Given the description of an element on the screen output the (x, y) to click on. 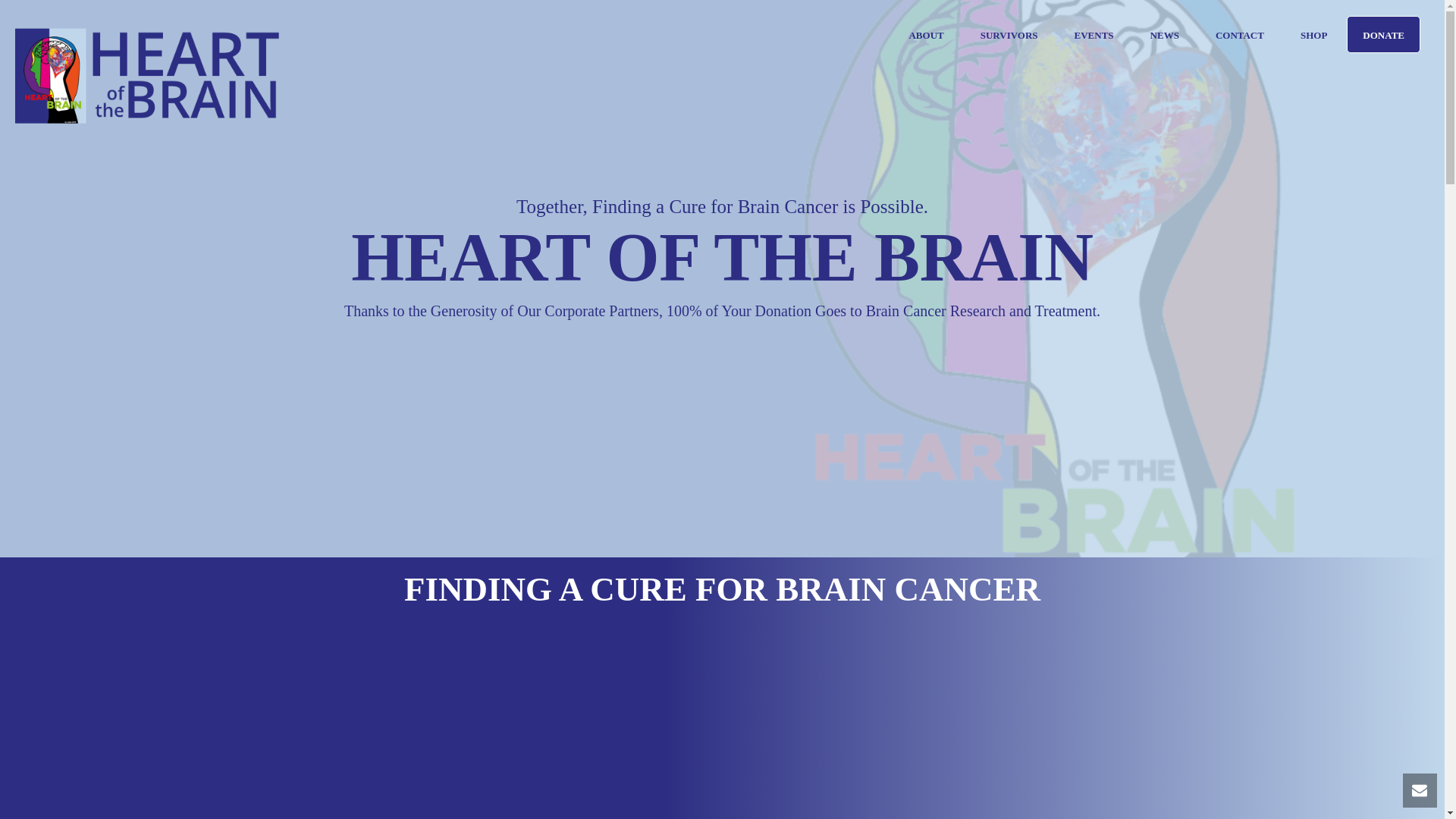
SURVIVORS (1008, 34)
NEWS (1164, 34)
ABOUT (925, 34)
ABOUT (925, 34)
EVENTS (1094, 34)
Heart of the Brain (147, 75)
DONATE (1383, 34)
CONTACT (1239, 34)
SURVIVORS (1008, 34)
SHOP (1313, 34)
SHOP (1313, 34)
NEWS (1164, 34)
EVENTS (1094, 34)
DONATE (1383, 34)
CONTACT (1239, 34)
